Given the description of an element on the screen output the (x, y) to click on. 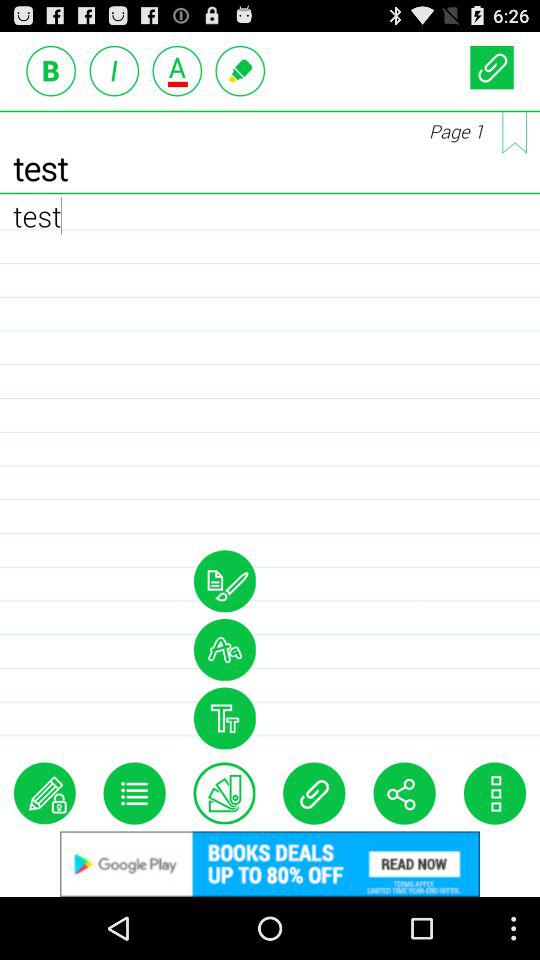
see more options (494, 793)
